Given the description of an element on the screen output the (x, y) to click on. 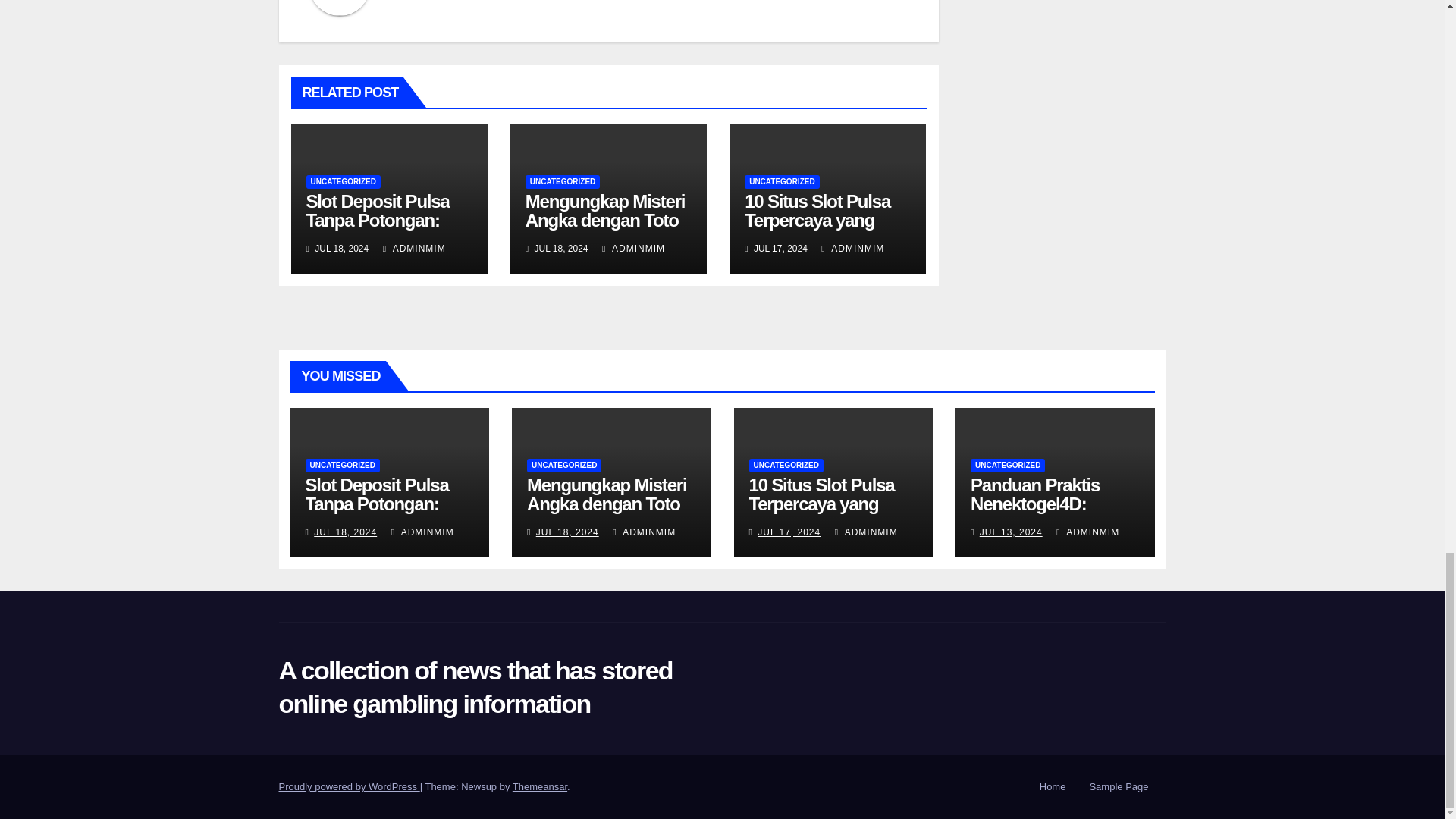
Home (1052, 786)
10 Situs Slot Pulsa Terpercaya yang Harus Anda Coba Sekarang (816, 229)
UNCATEGORIZED (342, 182)
UNCATEGORIZED (781, 182)
ADMINMIM (633, 248)
ADMINMIM (852, 248)
UNCATEGORIZED (562, 182)
